Given the description of an element on the screen output the (x, y) to click on. 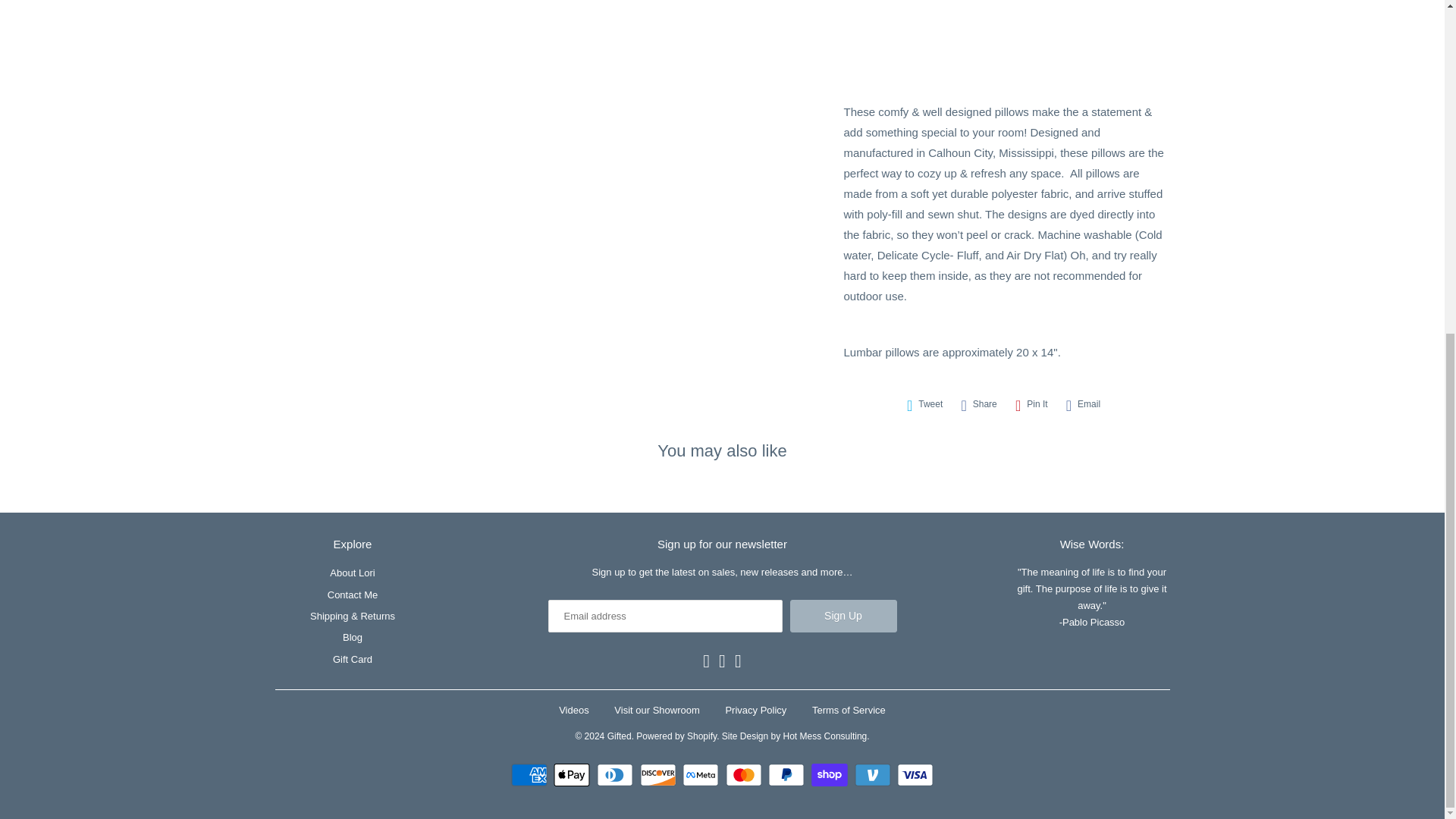
Visa (914, 774)
Share this on Pinterest (1031, 404)
Discover (659, 774)
Diners Club (616, 774)
Sign Up (843, 615)
Share this on Twitter (924, 404)
Venmo (874, 774)
Shop Pay (830, 774)
American Express (531, 774)
Meta Pay (702, 774)
